Given the description of an element on the screen output the (x, y) to click on. 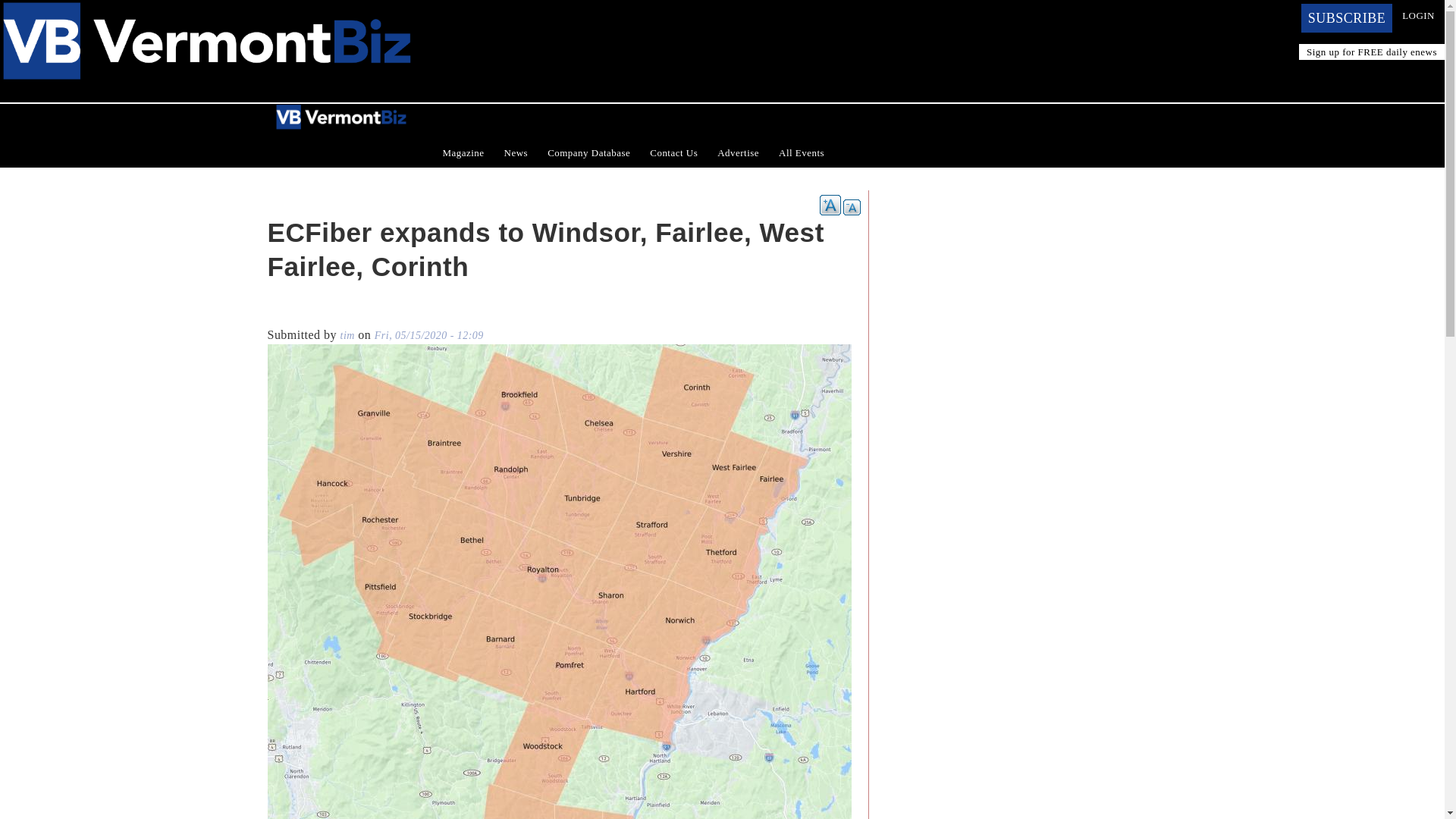
Home (206, 8)
Share to Facebook (277, 312)
LOGIN (1418, 15)
Company Database (588, 152)
Magazine (462, 152)
Share to X (298, 312)
A (830, 204)
SUBSCRIBE (1346, 18)
Friday, May 15, 2020 - 12:09 (428, 335)
Advertise (737, 152)
Contact Us (673, 152)
A (851, 207)
All Events (801, 152)
Share to Linkedin (320, 312)
